Given the description of an element on the screen output the (x, y) to click on. 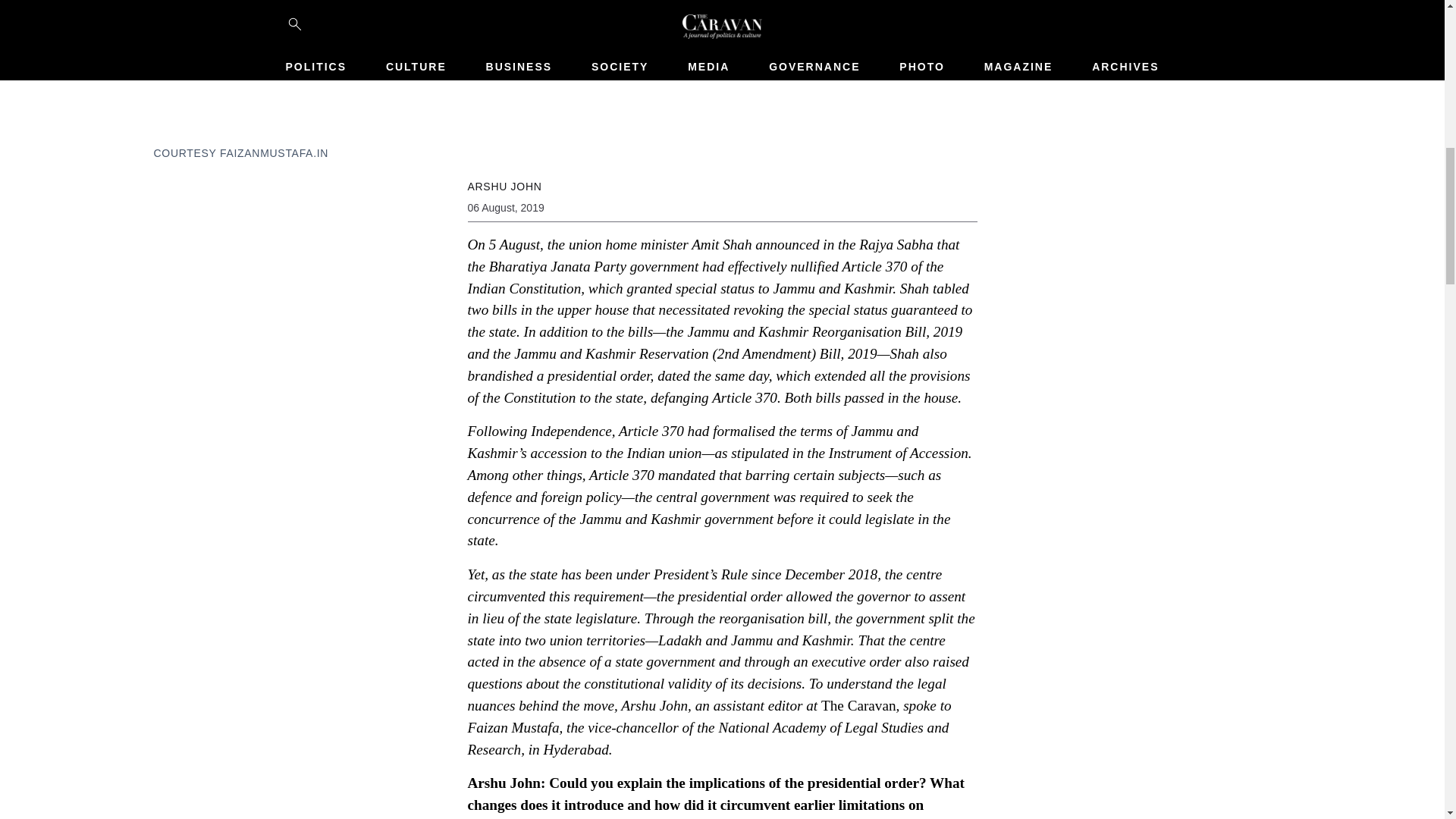
ARSHU JOHN (504, 186)
